Given the description of an element on the screen output the (x, y) to click on. 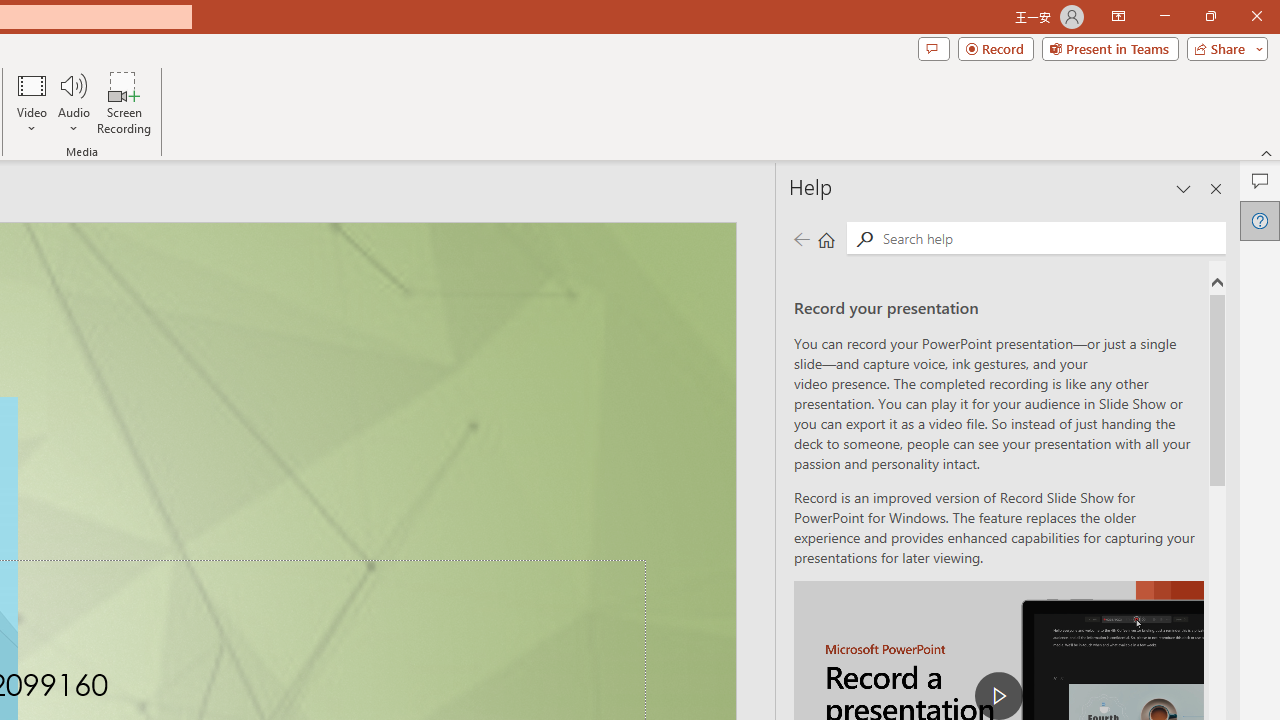
Screen Recording... (123, 102)
Previous page (801, 238)
